Given the description of an element on the screen output the (x, y) to click on. 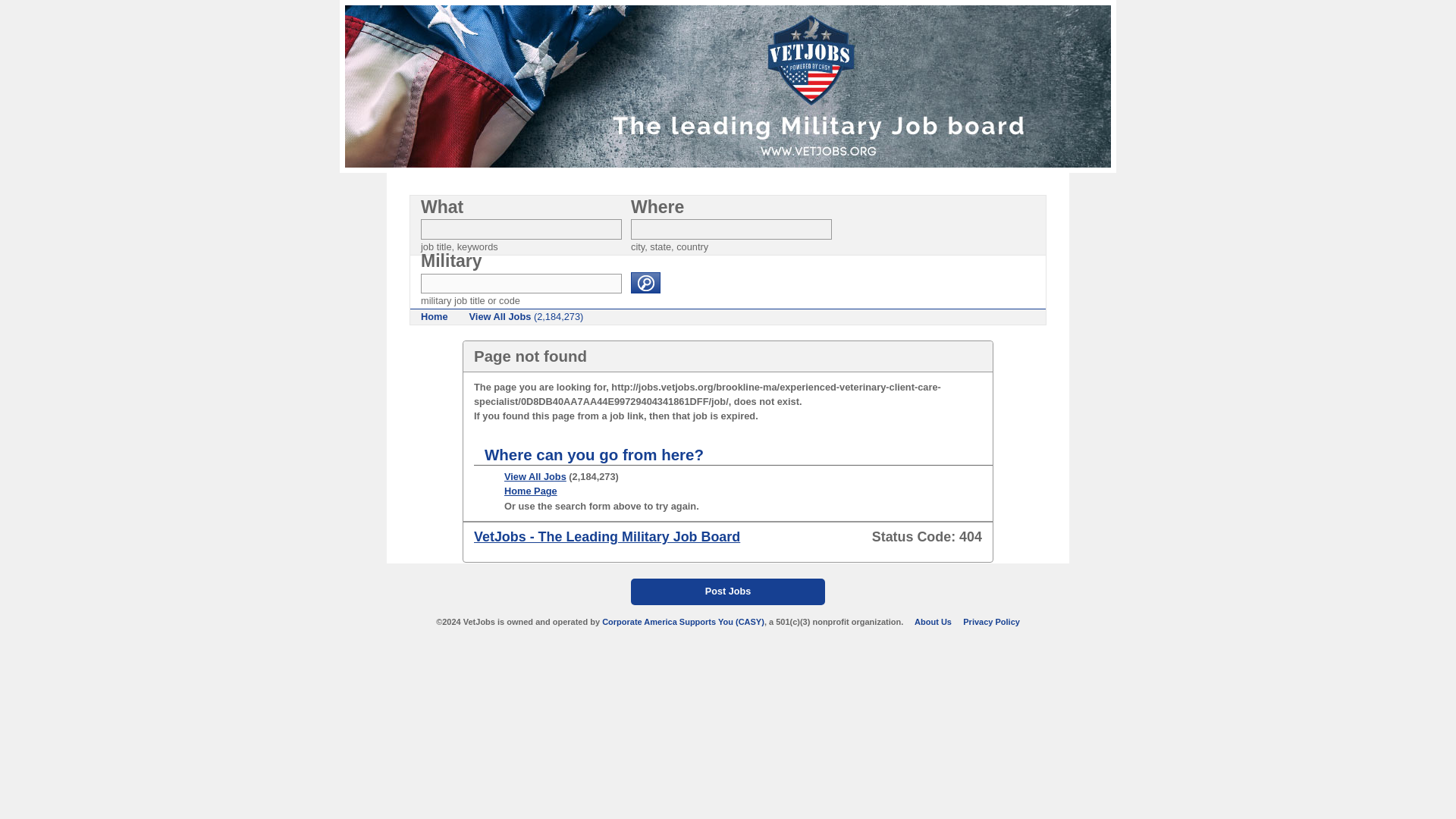
Search MOC (520, 283)
Home Page (530, 490)
View All Jobs (534, 476)
Home (434, 316)
Privacy Policy (991, 621)
Search Phrase (520, 229)
Post Jobs (727, 591)
search (645, 282)
Search Location (730, 229)
Submit Search (645, 282)
search (645, 282)
VetJobs - The Leading Military Job Board (606, 536)
About Us (933, 621)
